Given the description of an element on the screen output the (x, y) to click on. 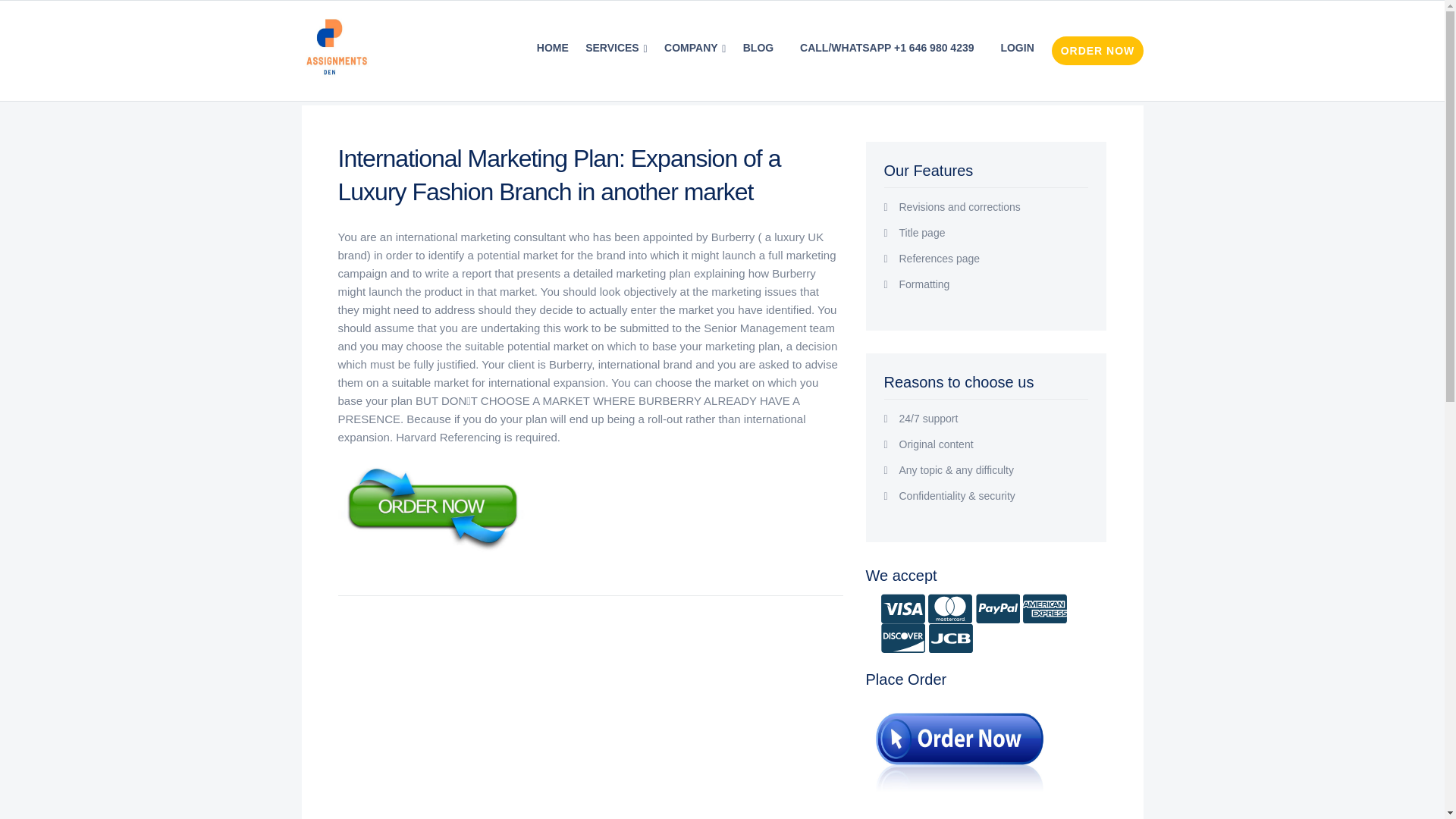
Revisions and corrections (994, 207)
BLOG (759, 48)
Original content (994, 444)
HOME (552, 48)
Formatting (994, 284)
COMPANY (695, 48)
References page (994, 258)
Title page (994, 232)
ORDER NOW (1096, 50)
LOGIN (1016, 48)
SERVICES (616, 48)
